Given the description of an element on the screen output the (x, y) to click on. 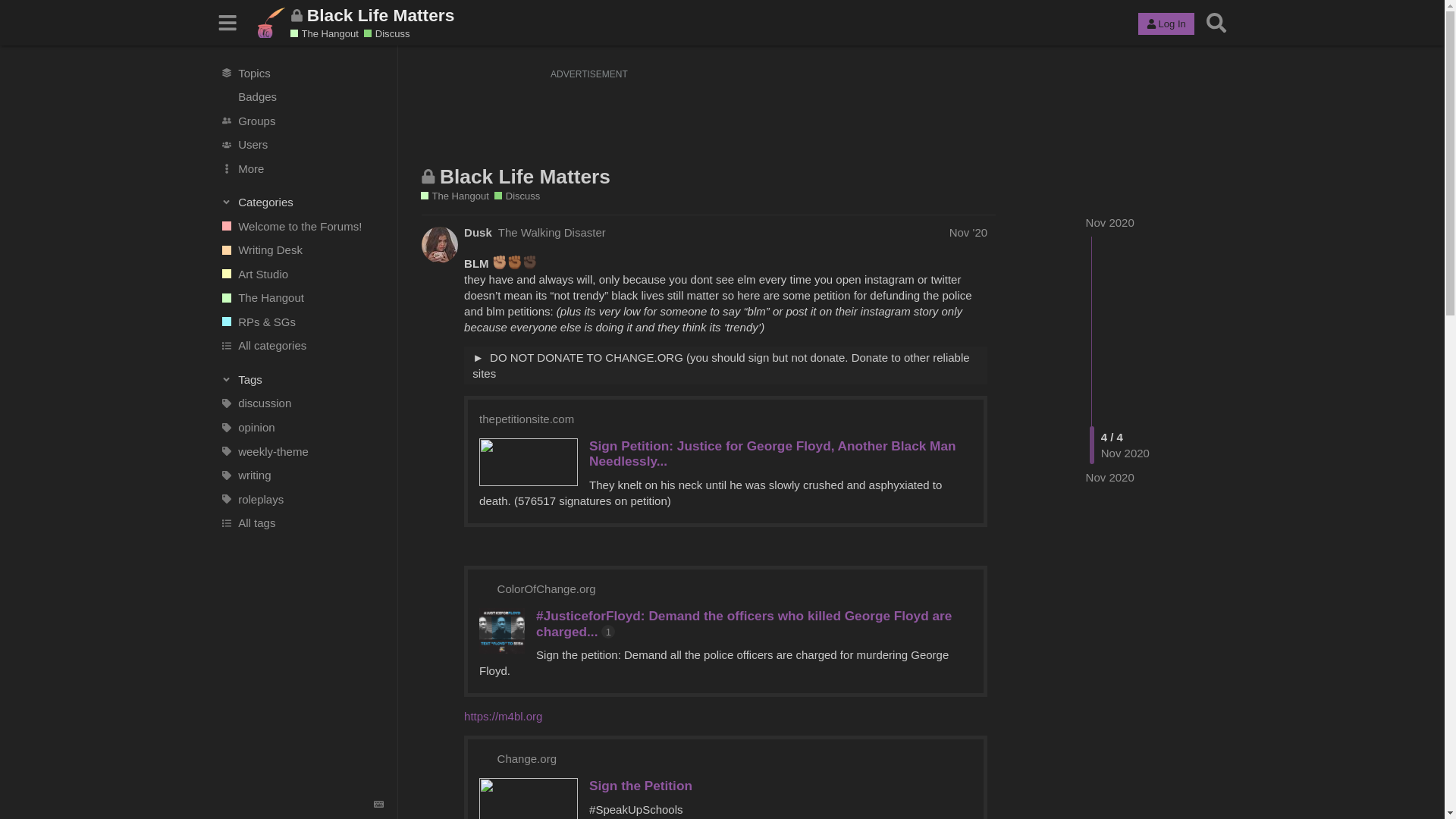
Log In (1165, 24)
Black Life Matters (524, 176)
Sidebar (227, 22)
List of available user groups (301, 120)
writing (301, 475)
opinion (301, 427)
thepetitionsite.com (526, 418)
Users (301, 144)
List of all users (301, 144)
All topics (301, 72)
roleplays (301, 498)
Tags (301, 378)
Welcome to the Forums! (301, 225)
Toggle section (301, 378)
